Given the description of an element on the screen output the (x, y) to click on. 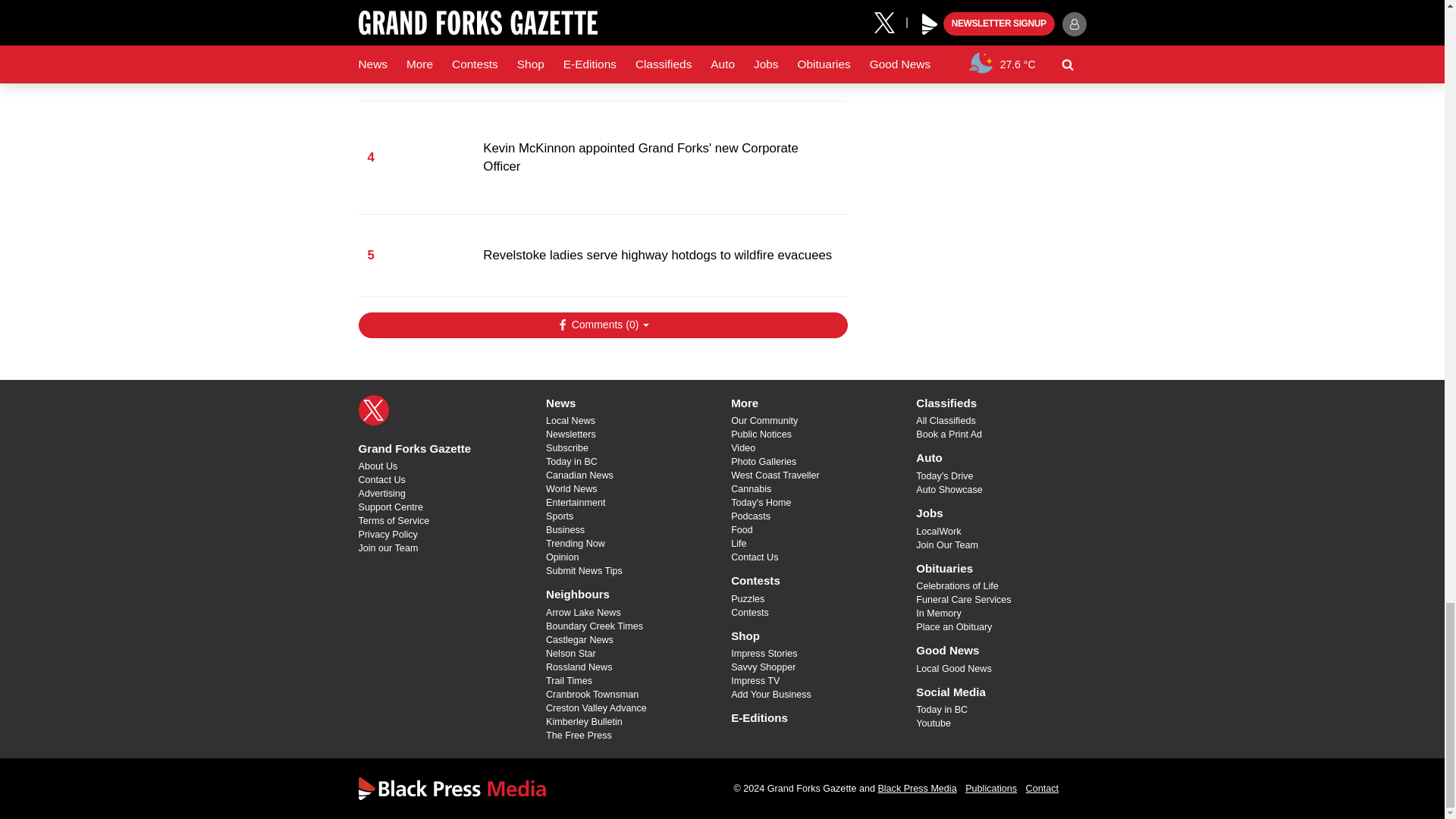
Show Comments (602, 325)
X (373, 409)
